Given the description of an element on the screen output the (x, y) to click on. 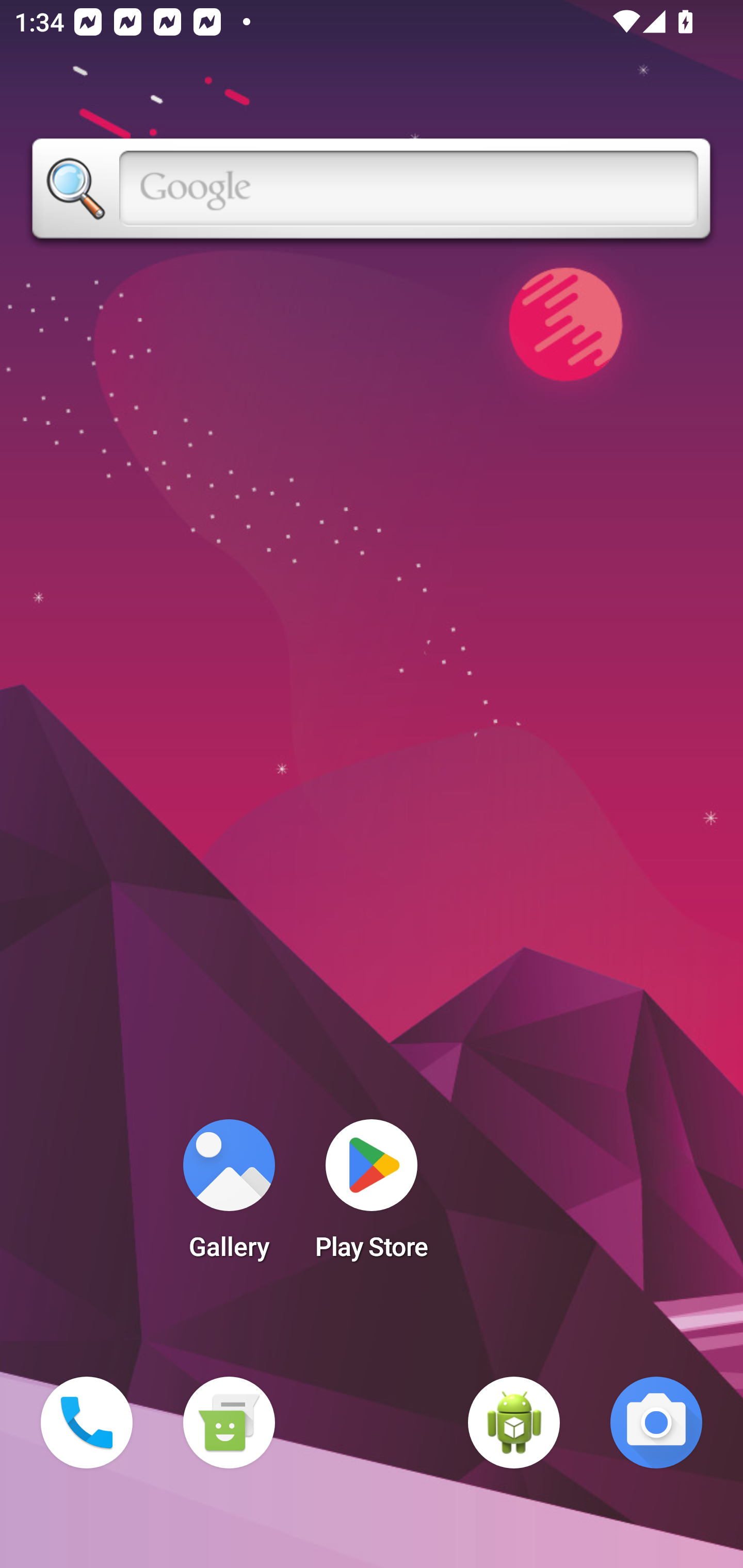
Gallery (228, 1195)
Play Store (371, 1195)
Phone (86, 1422)
Messaging (228, 1422)
WebView Browser Tester (513, 1422)
Camera (656, 1422)
